Given the description of an element on the screen output the (x, y) to click on. 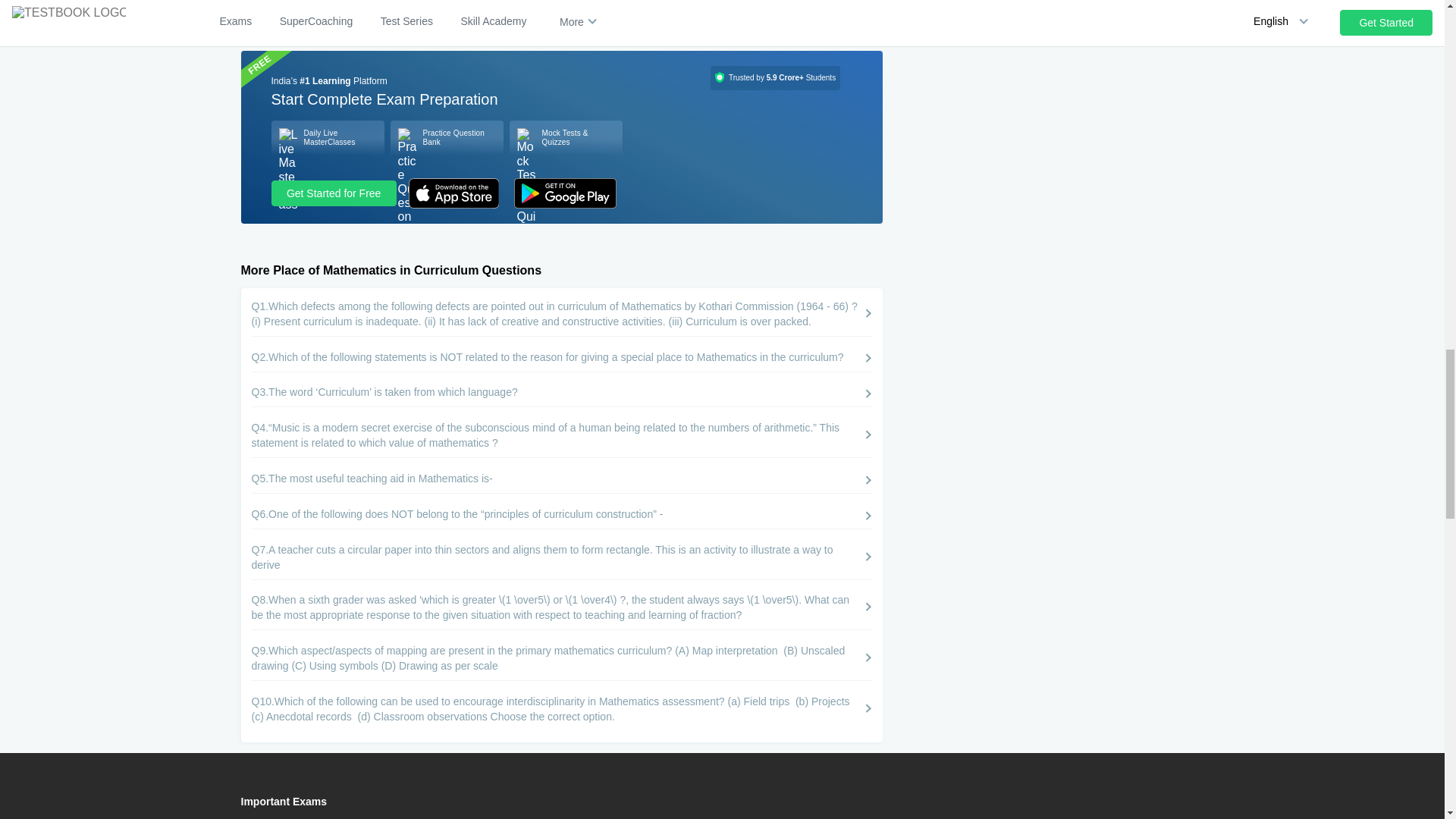
Get Started for Free (333, 193)
